Given the description of an element on the screen output the (x, y) to click on. 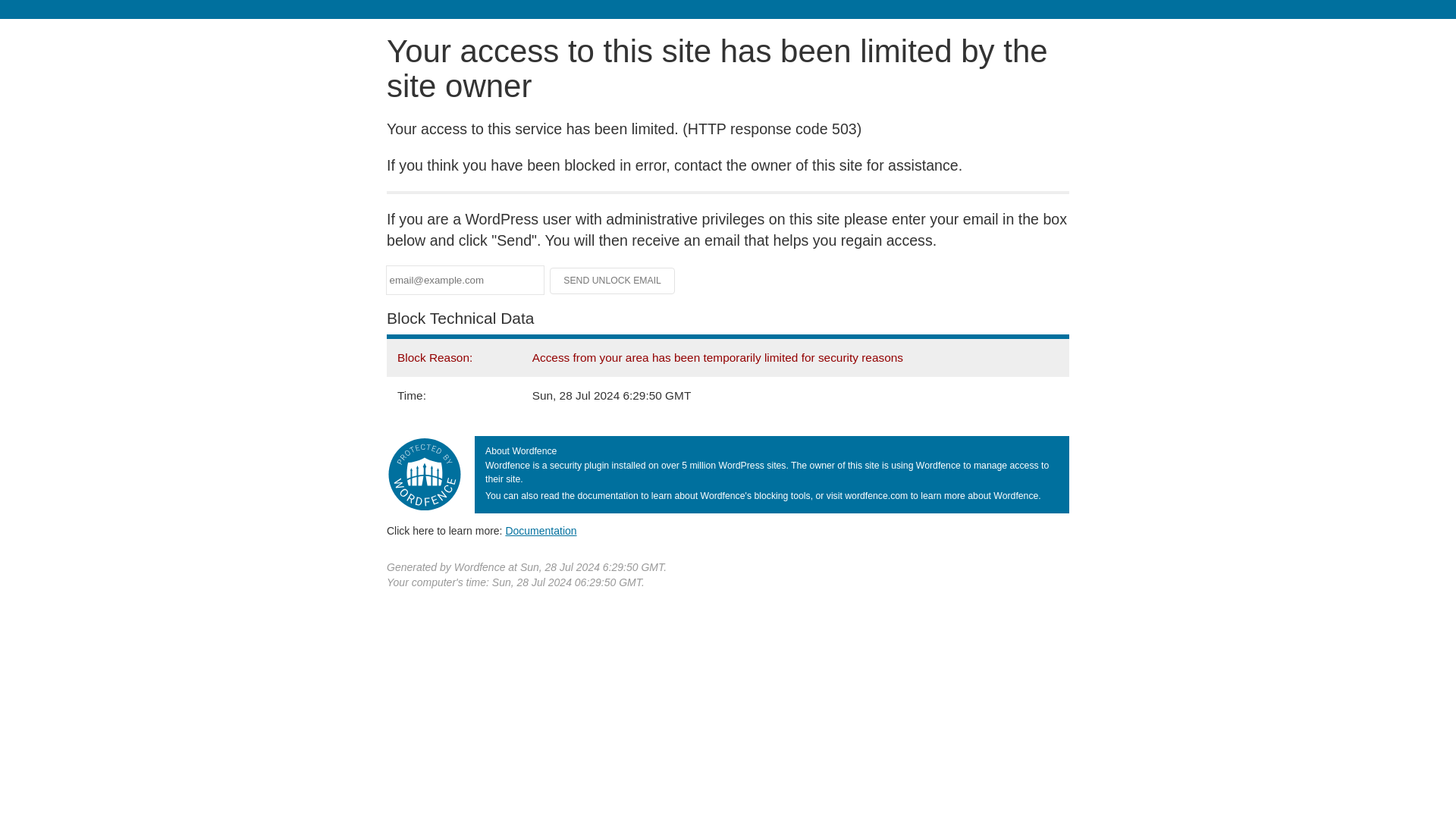
Send Unlock Email (612, 280)
Send Unlock Email (612, 280)
